Given the description of an element on the screen output the (x, y) to click on. 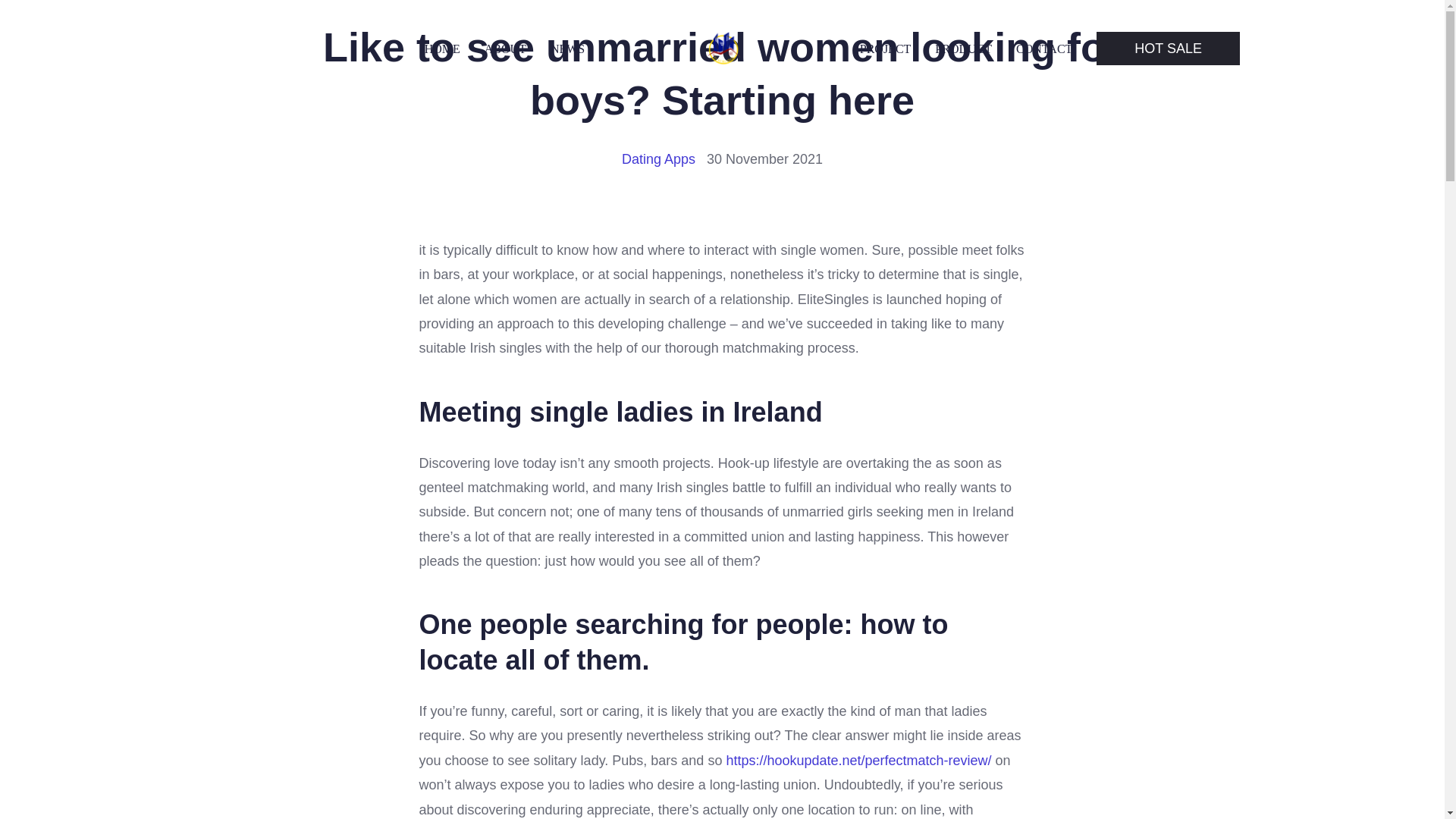
ABOUT (504, 49)
NEWS (567, 49)
HOME (442, 49)
PROJECT (885, 49)
Cari (50, 16)
